Given the description of an element on the screen output the (x, y) to click on. 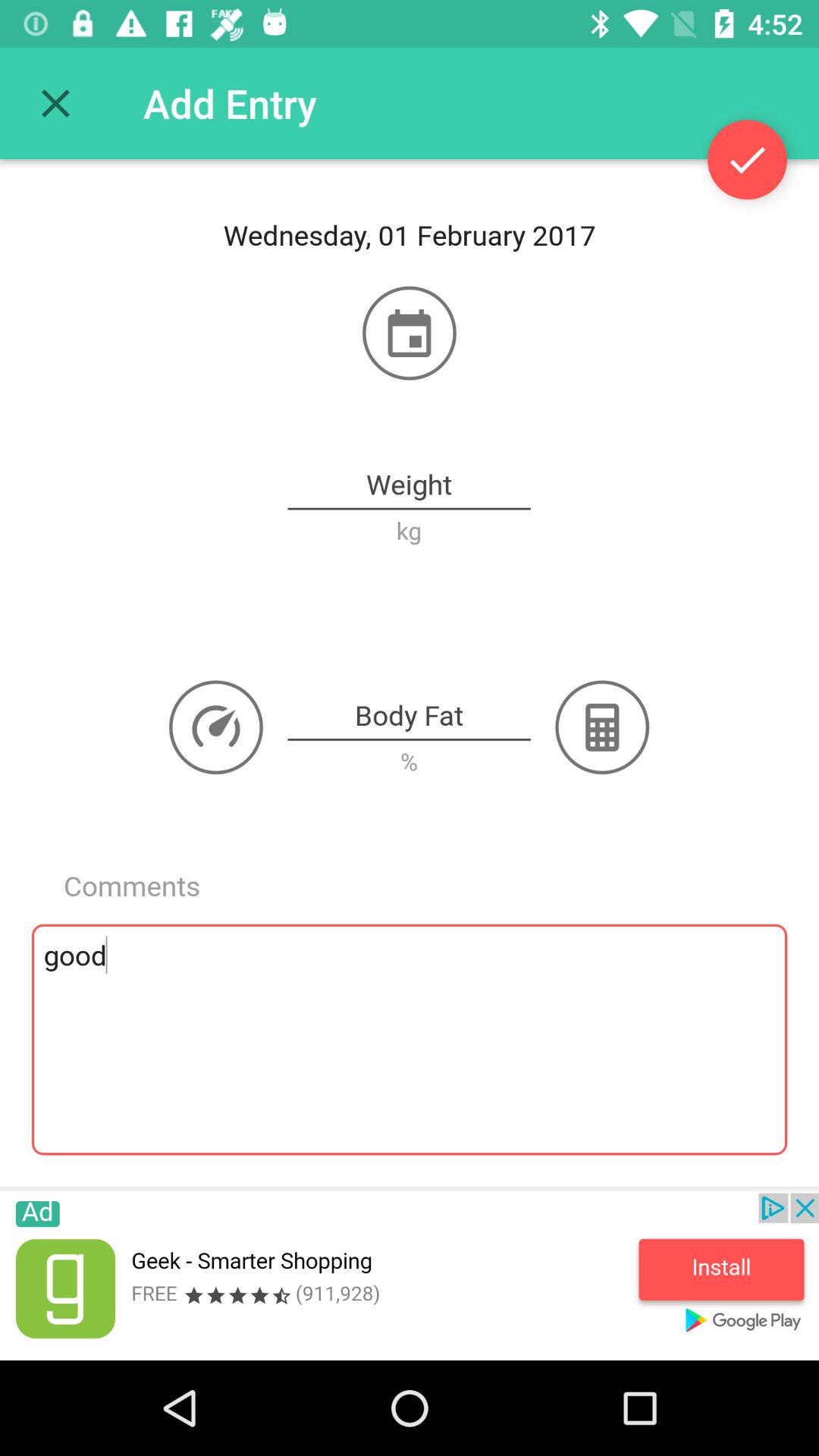
select acuurate (747, 159)
